Given the description of an element on the screen output the (x, y) to click on. 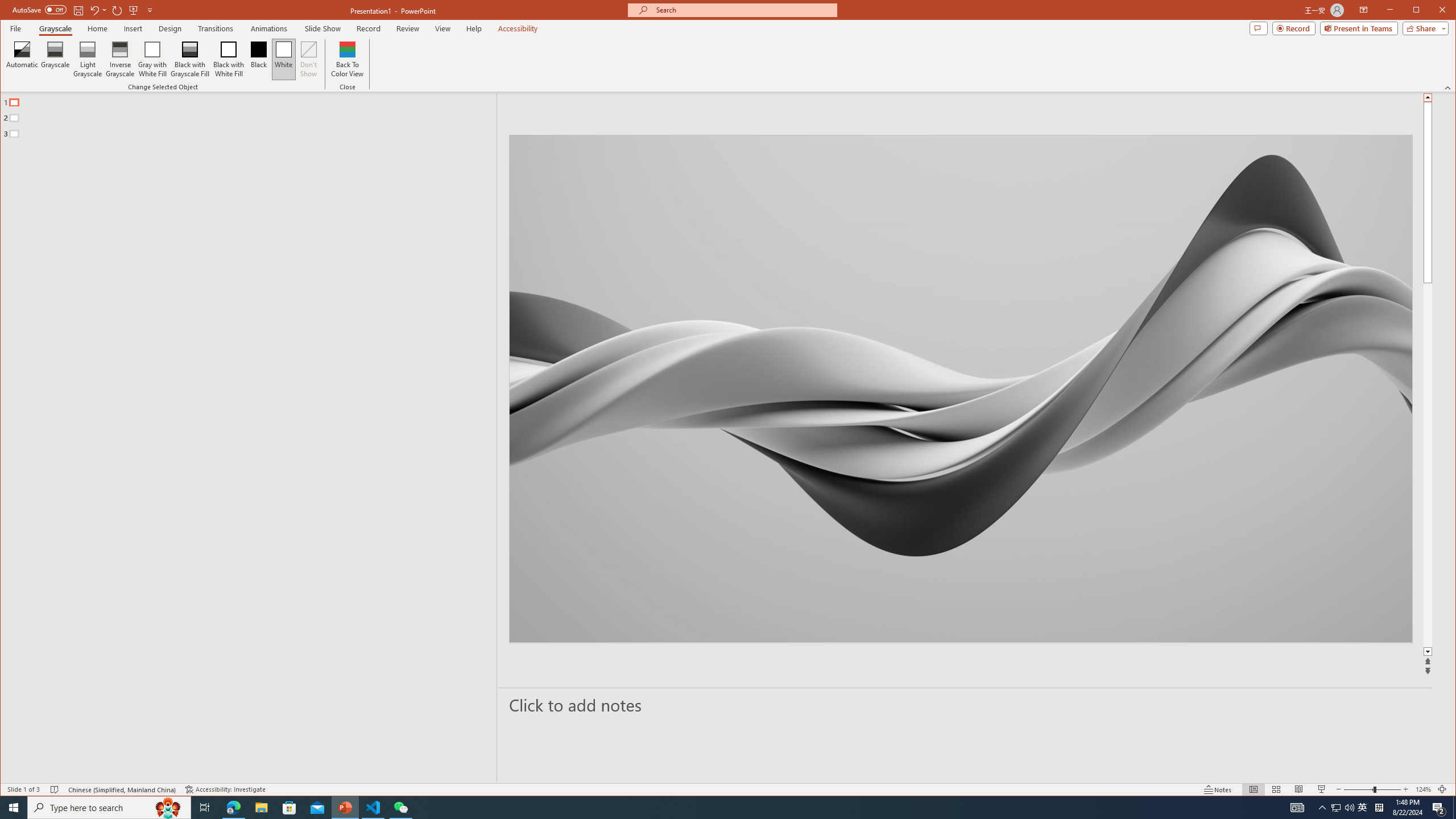
Share (1422, 27)
AutomationID: 4105 (1297, 807)
Present in Teams (1358, 28)
Spell Check No Errors (55, 789)
Microsoft Edge - 1 running window (233, 807)
Reading View (1298, 789)
Close (1444, 11)
Notes  (1217, 789)
Search highlights icon opens search home window (167, 807)
File Tab (15, 27)
Zoom Out (1358, 789)
